Given the description of an element on the screen output the (x, y) to click on. 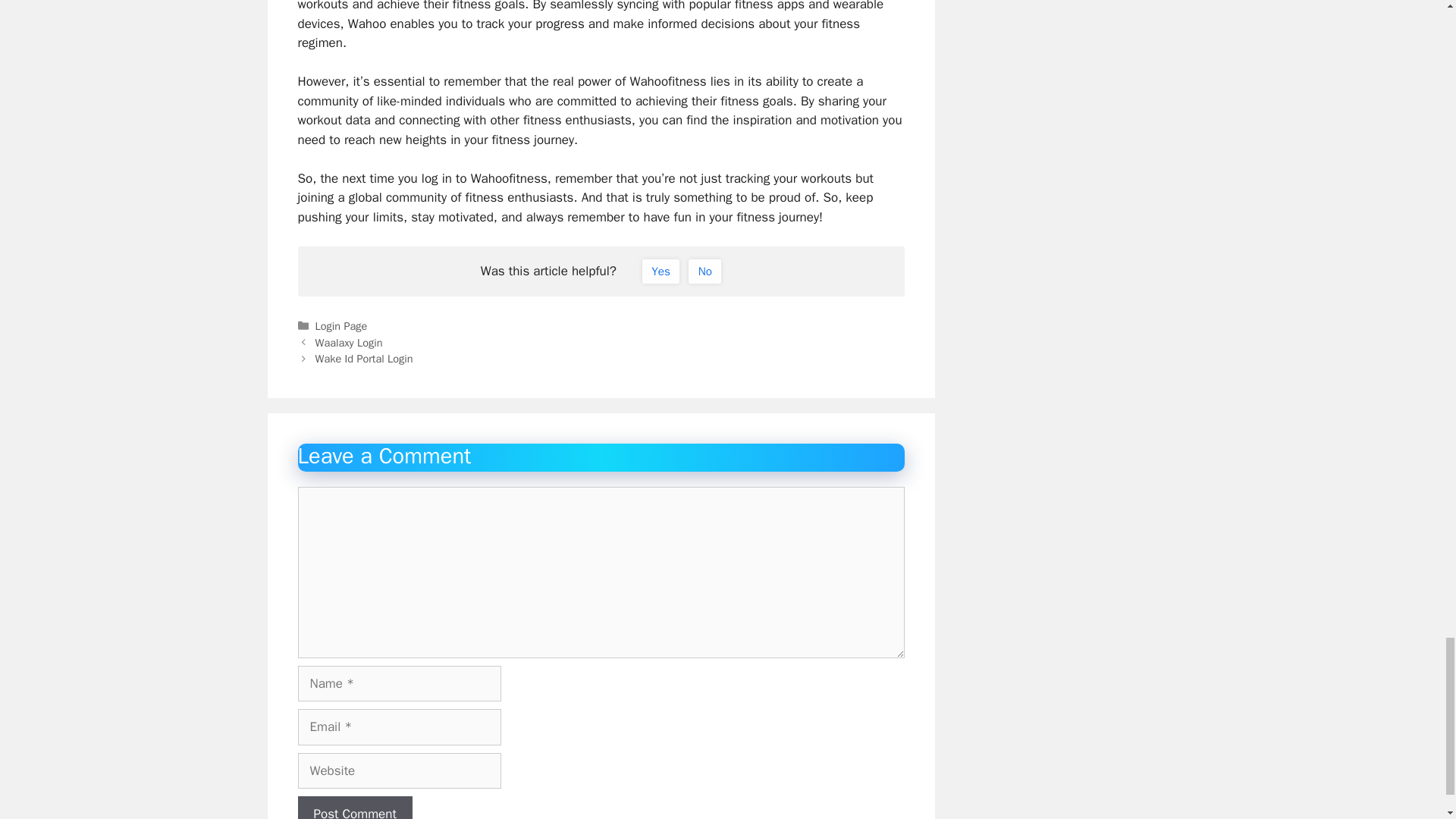
Login Page (341, 325)
Post Comment (354, 807)
Post Comment (354, 807)
Waalaxy Login (348, 341)
Wake Id Portal Login (364, 358)
